Given the description of an element on the screen output the (x, y) to click on. 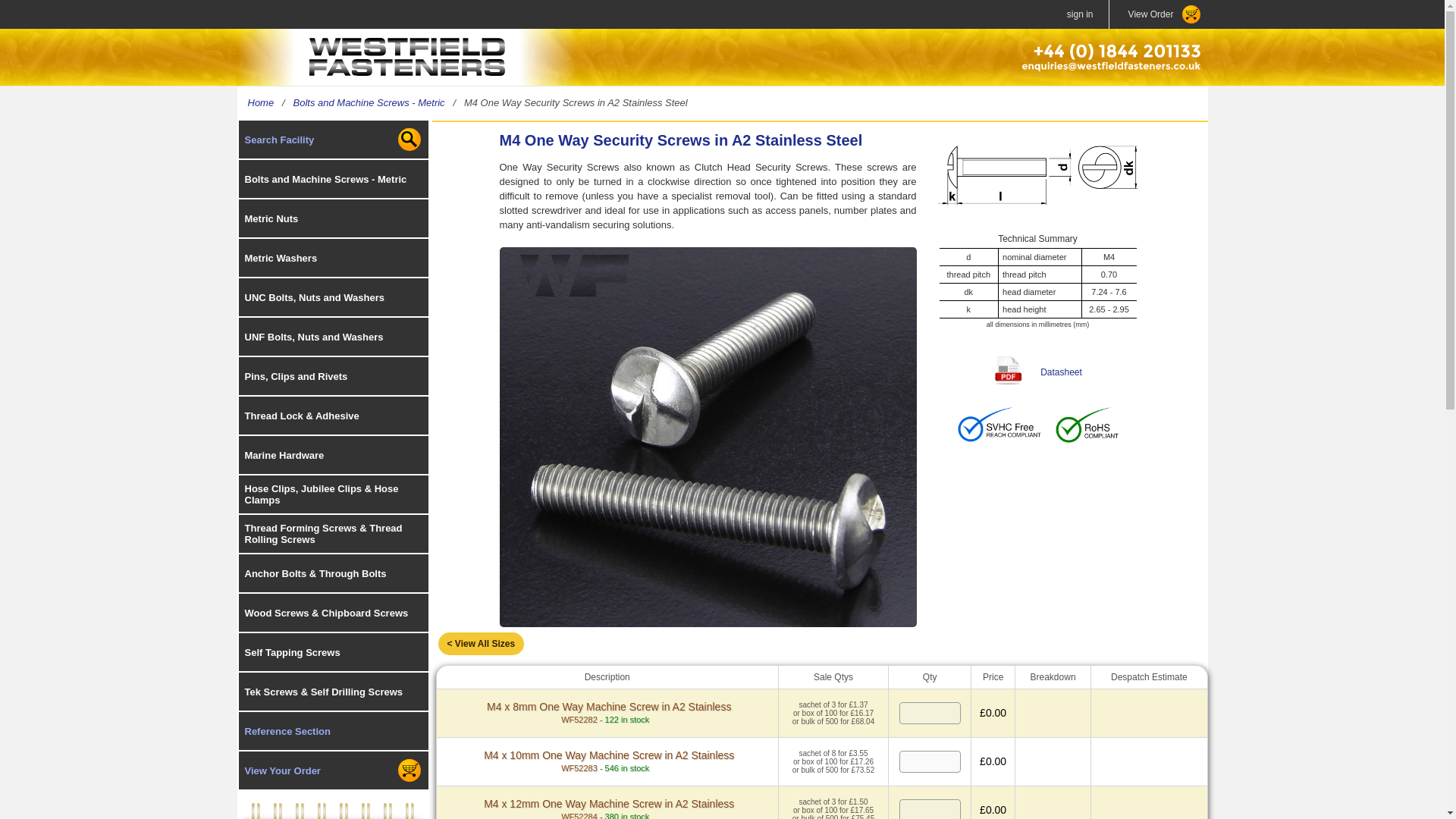
sign in (1080, 14)
Home (260, 102)
View Order (1157, 14)
